Given the description of an element on the screen output the (x, y) to click on. 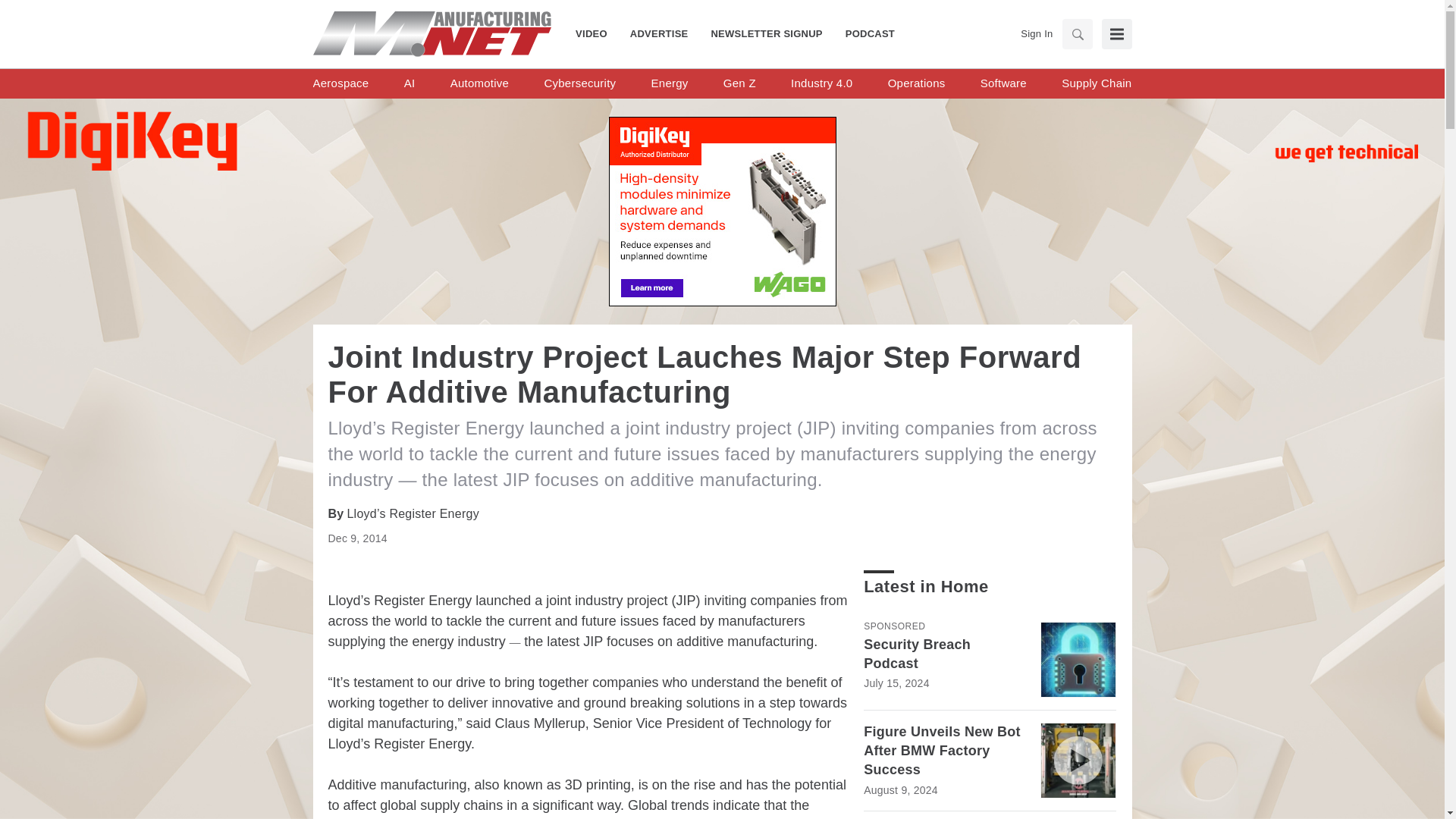
Aerospace (340, 83)
PODCAST (864, 33)
Sign In (1036, 33)
Cybersecurity (579, 83)
Supply Chain (1096, 83)
VIDEO (596, 33)
Sponsored (893, 625)
Industry 4.0 (820, 83)
Operations (916, 83)
